Given the description of an element on the screen output the (x, y) to click on. 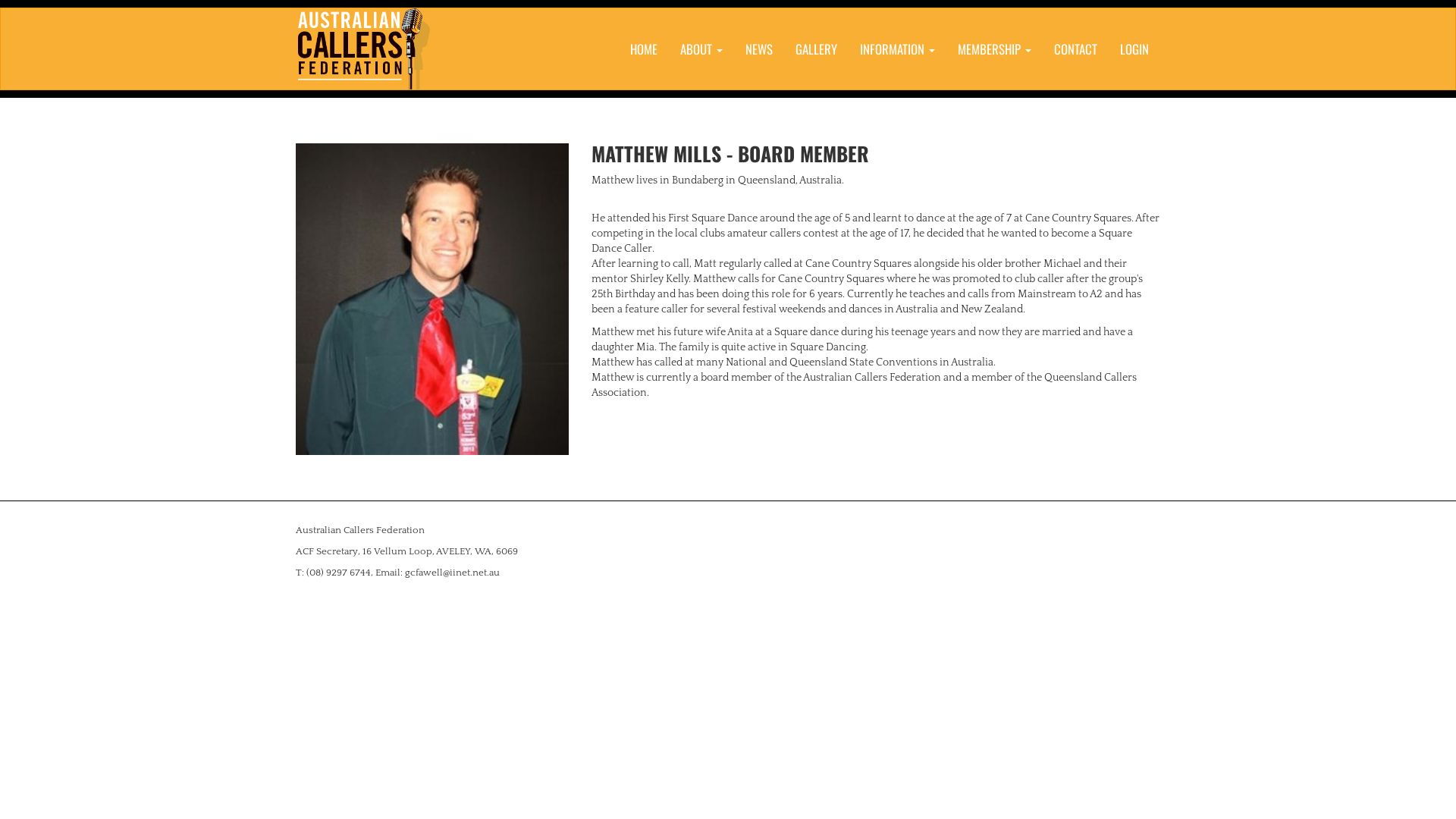
INFORMATION Element type: text (897, 48)
ABOUT Element type: text (701, 48)
MEMBERSHIP Element type: text (994, 48)
LOGIN Element type: text (1134, 48)
NEWS Element type: text (759, 48)
HOME Element type: text (643, 48)
GALLERY Element type: text (816, 48)
CONTACT Element type: text (1075, 48)
